Given the description of an element on the screen output the (x, y) to click on. 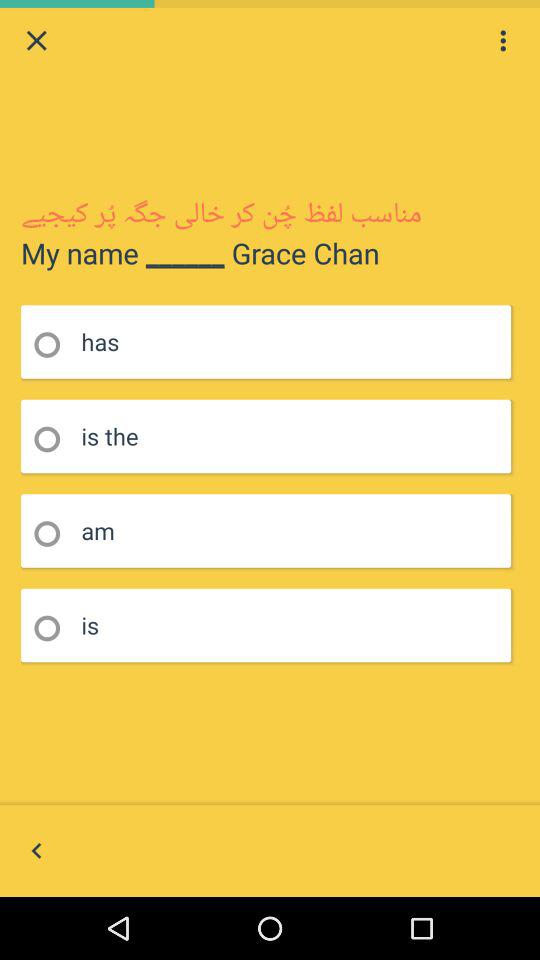
select field (53, 439)
